Given the description of an element on the screen output the (x, y) to click on. 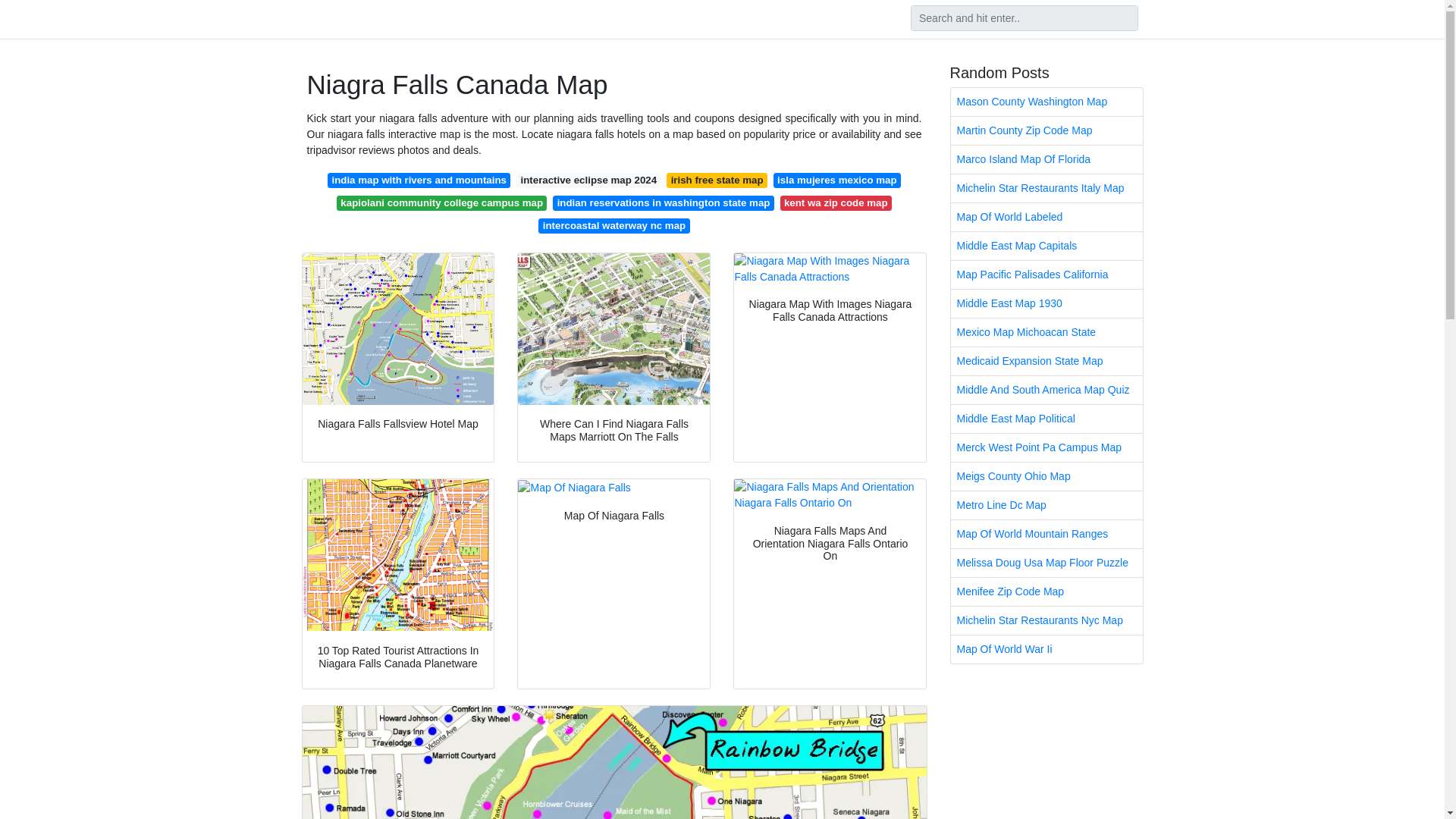
india map with rivers and mountains (419, 180)
interactive eclipse map 2024 (588, 180)
Mexico Map Michoacan State (1046, 332)
kapiolani community college campus map (441, 202)
Marco Island Map Of Florida (1046, 159)
isla mujeres mexico map (837, 180)
kent wa zip code map (835, 202)
Middle East Map Capitals (1046, 245)
intercoastal waterway nc map (613, 225)
indian reservations in washington state map (663, 202)
Middle East Map 1930 (1046, 303)
Map Of World Labeled (1046, 216)
irish free state map (716, 180)
Mason County Washington Map (1046, 101)
Michelin Star Restaurants Italy Map (1046, 188)
